Given the description of an element on the screen output the (x, y) to click on. 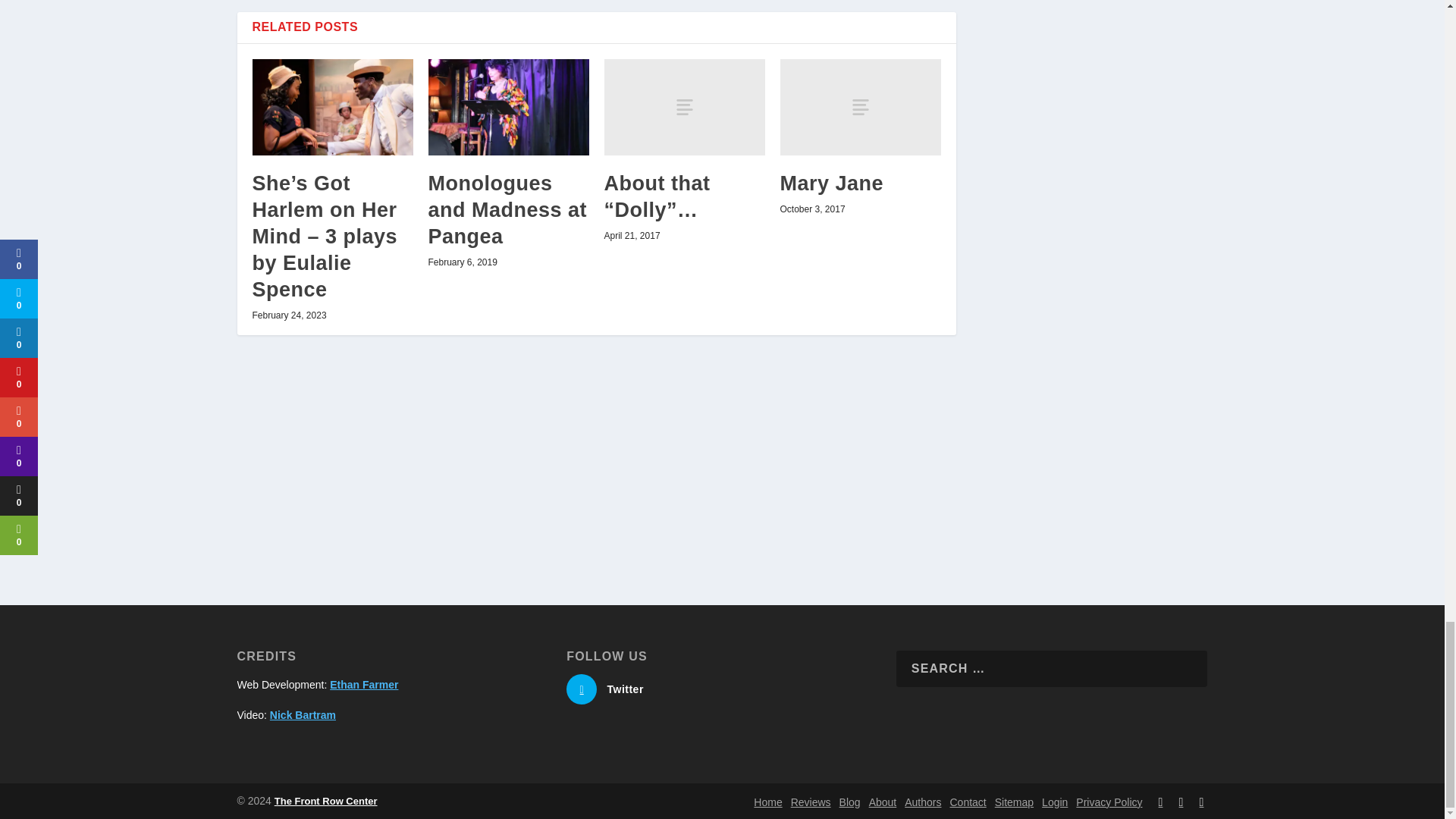
Mary Jane (859, 106)
Monologues and Madness at Pangea (508, 106)
